Given the description of an element on the screen output the (x, y) to click on. 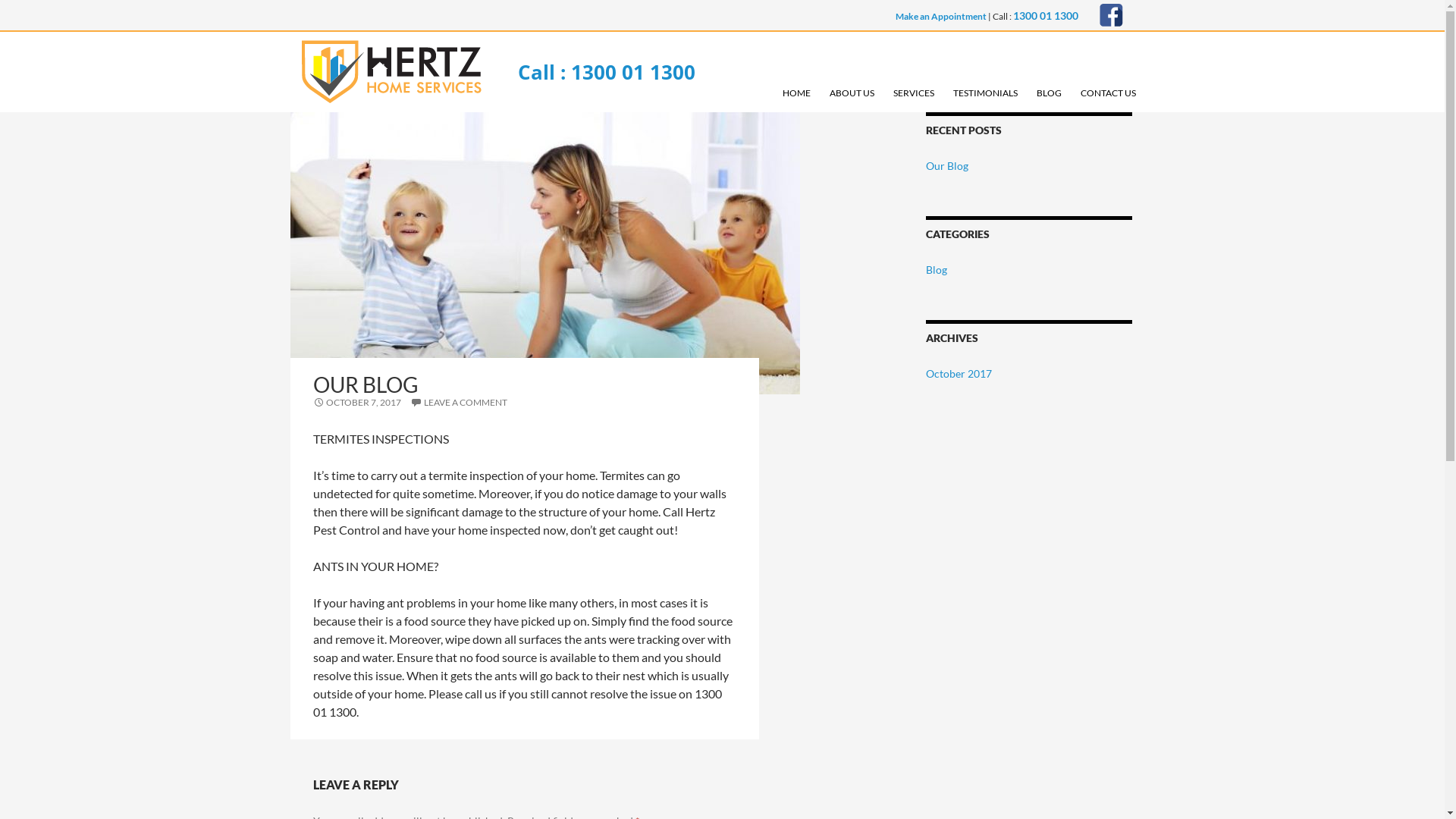
Hertz Home Services Element type: hover (391, 71)
LEAVE A COMMENT Element type: text (457, 401)
CONTACT US Element type: text (1107, 96)
ABOUT US Element type: text (851, 96)
Blog Element type: text (936, 269)
OCTOBER 7, 2017 Element type: text (356, 401)
SERVICES Element type: text (912, 96)
Make an Appointment Element type: text (939, 15)
1300 01 1300 Element type: text (1045, 15)
BLOG Element type: text (1048, 96)
SKIP TO CONTENT Element type: text (779, 86)
October 2017 Element type: text (958, 373)
Our Blog Element type: text (946, 165)
HOME Element type: text (795, 96)
Facebook Element type: hover (1111, 14)
TESTIMONIALS Element type: text (985, 96)
